Given the description of an element on the screen output the (x, y) to click on. 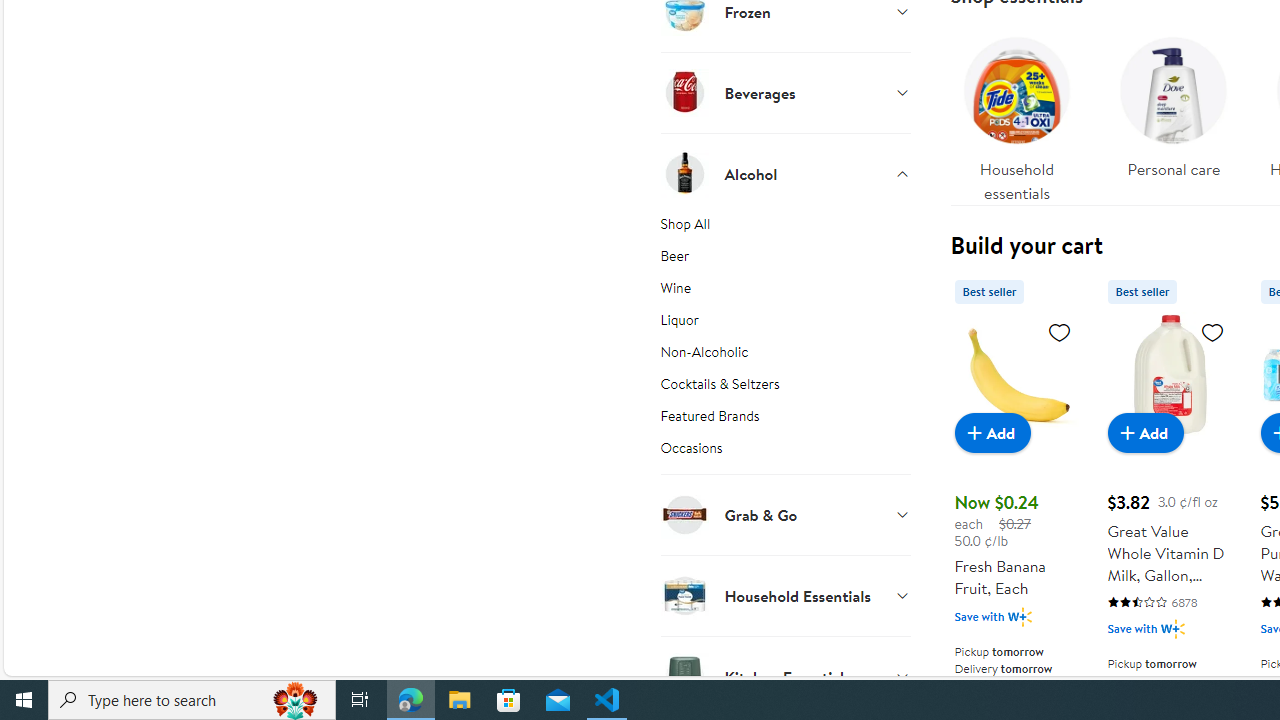
Kitchen Essentials (785, 676)
Non-Alcoholic (785, 356)
Occasions (785, 455)
Wine (785, 291)
Liquor (785, 323)
Featured Brands (785, 420)
Household essentials (1016, 114)
Sign in to add to Favorites list, Fresh Banana Fruit, Each (1059, 331)
Occasions (785, 455)
Fresh Banana Fruit, Each (1016, 374)
Household essentials (1016, 114)
Cocktails & Seltzers (785, 387)
Beverages (785, 92)
